Given the description of an element on the screen output the (x, y) to click on. 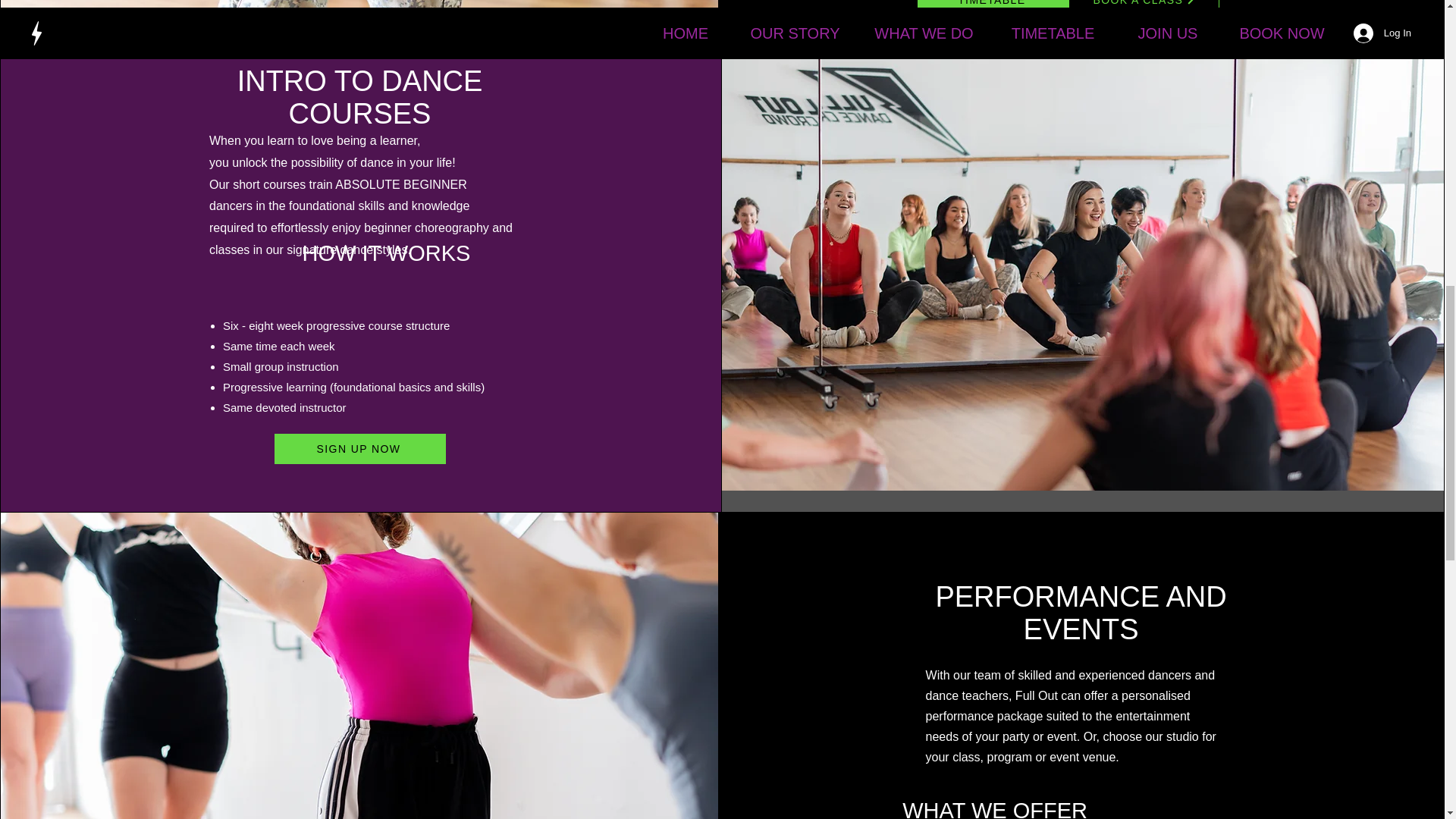
BOOK A CLASS (1144, 7)
TIMETABLE (992, 7)
SIGN UP NOW (360, 449)
